Given the description of an element on the screen output the (x, y) to click on. 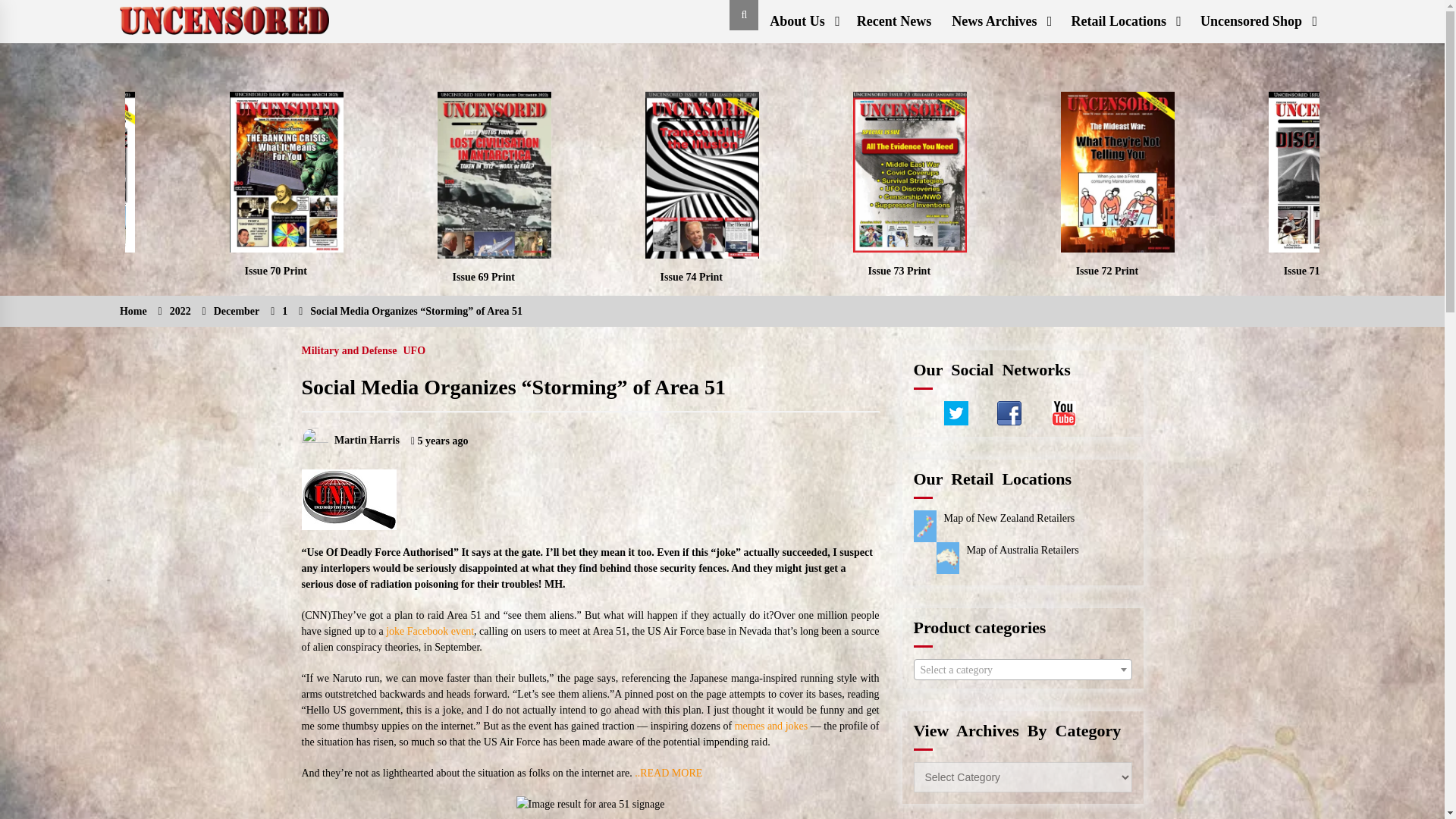
Retail Locations (1124, 21)
Uncensored Shop (1256, 21)
About Us (802, 21)
Recent News (893, 21)
News Archives (999, 21)
